Given the description of an element on the screen output the (x, y) to click on. 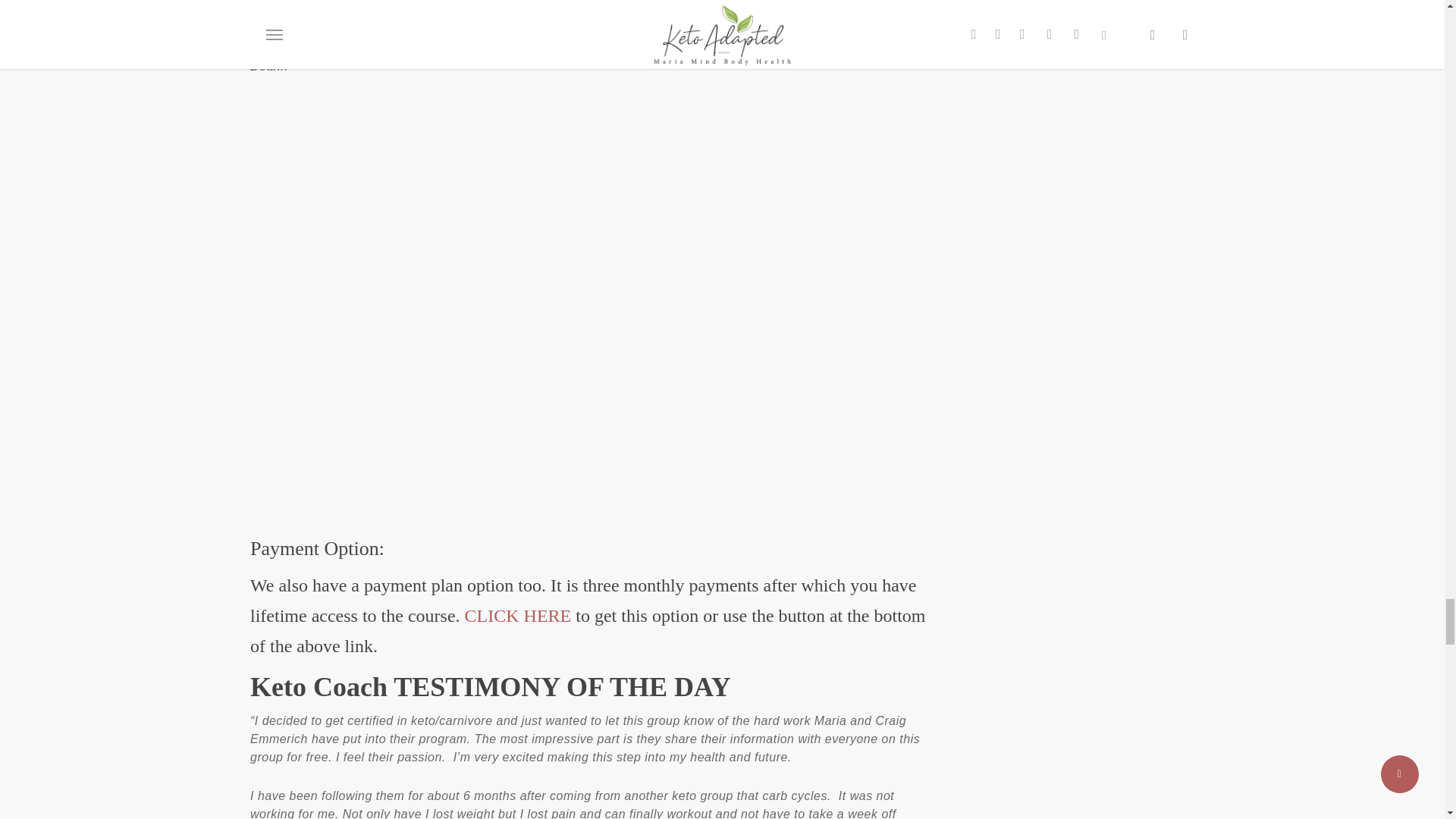
CLICK HERE (518, 615)
